Given the description of an element on the screen output the (x, y) to click on. 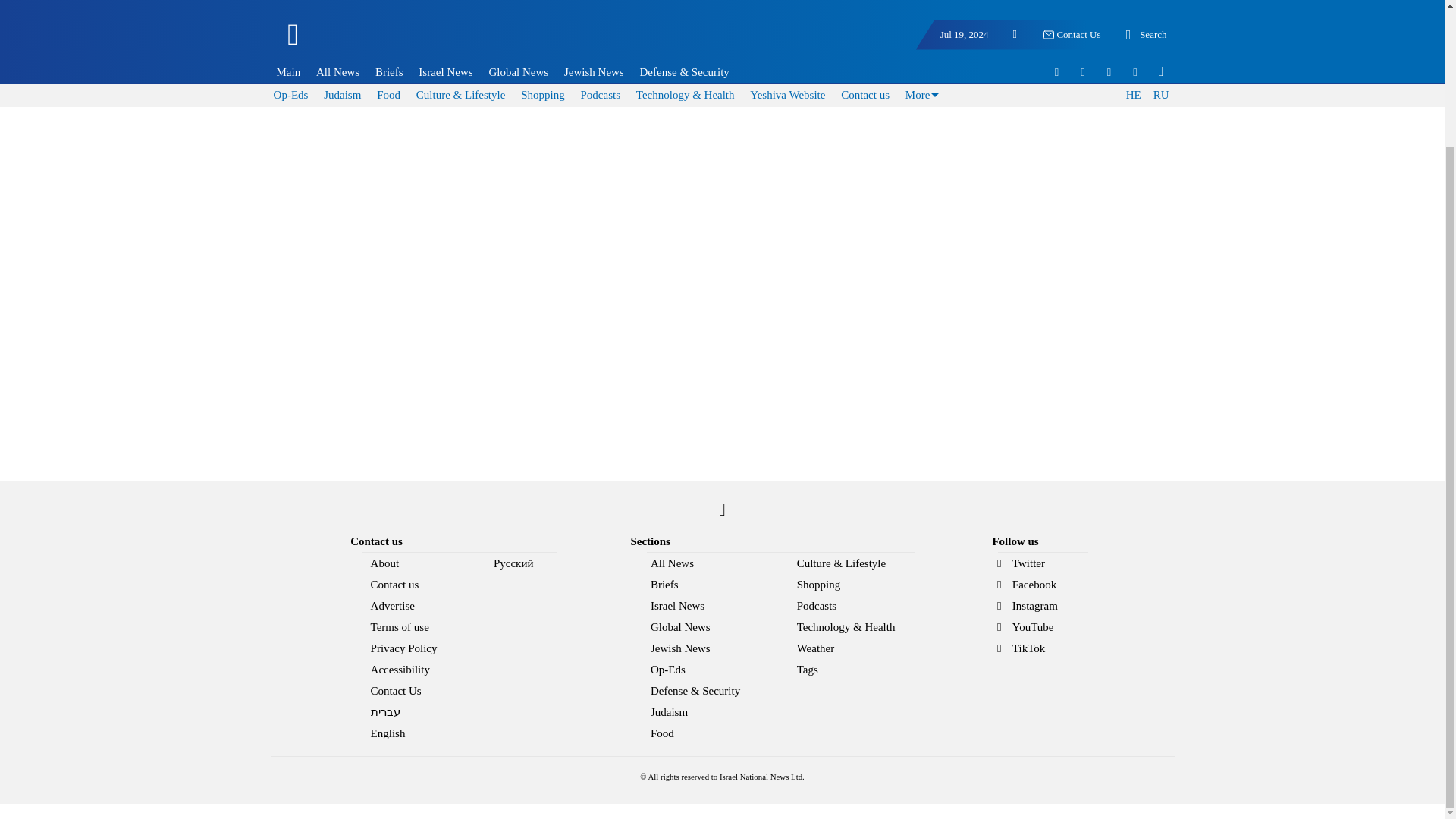
About (411, 563)
